Given the description of an element on the screen output the (x, y) to click on. 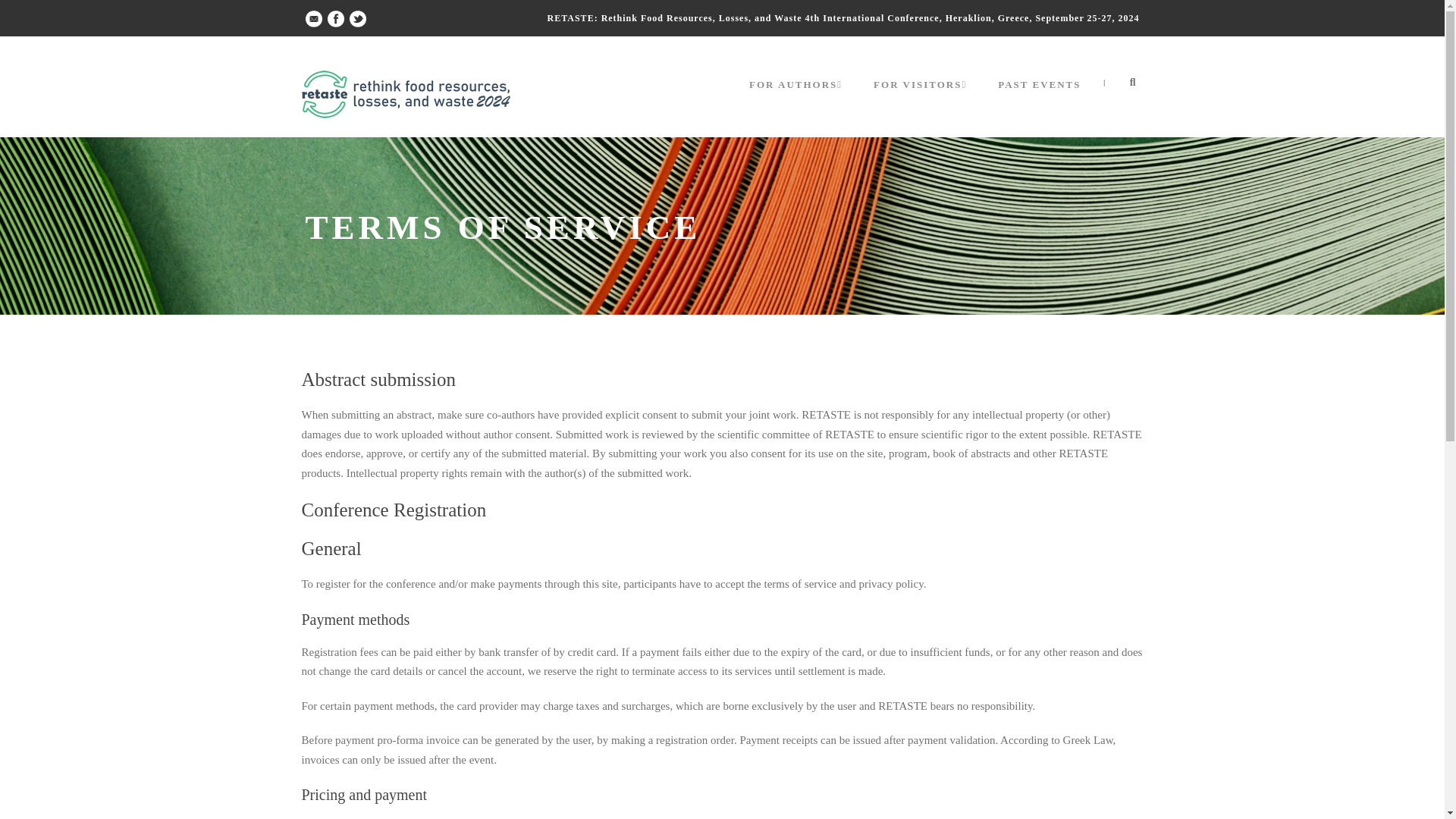
FOR AUTHORS (798, 99)
FOR VISITORS (922, 99)
PAST EVENTS (1038, 99)
